Given the description of an element on the screen output the (x, y) to click on. 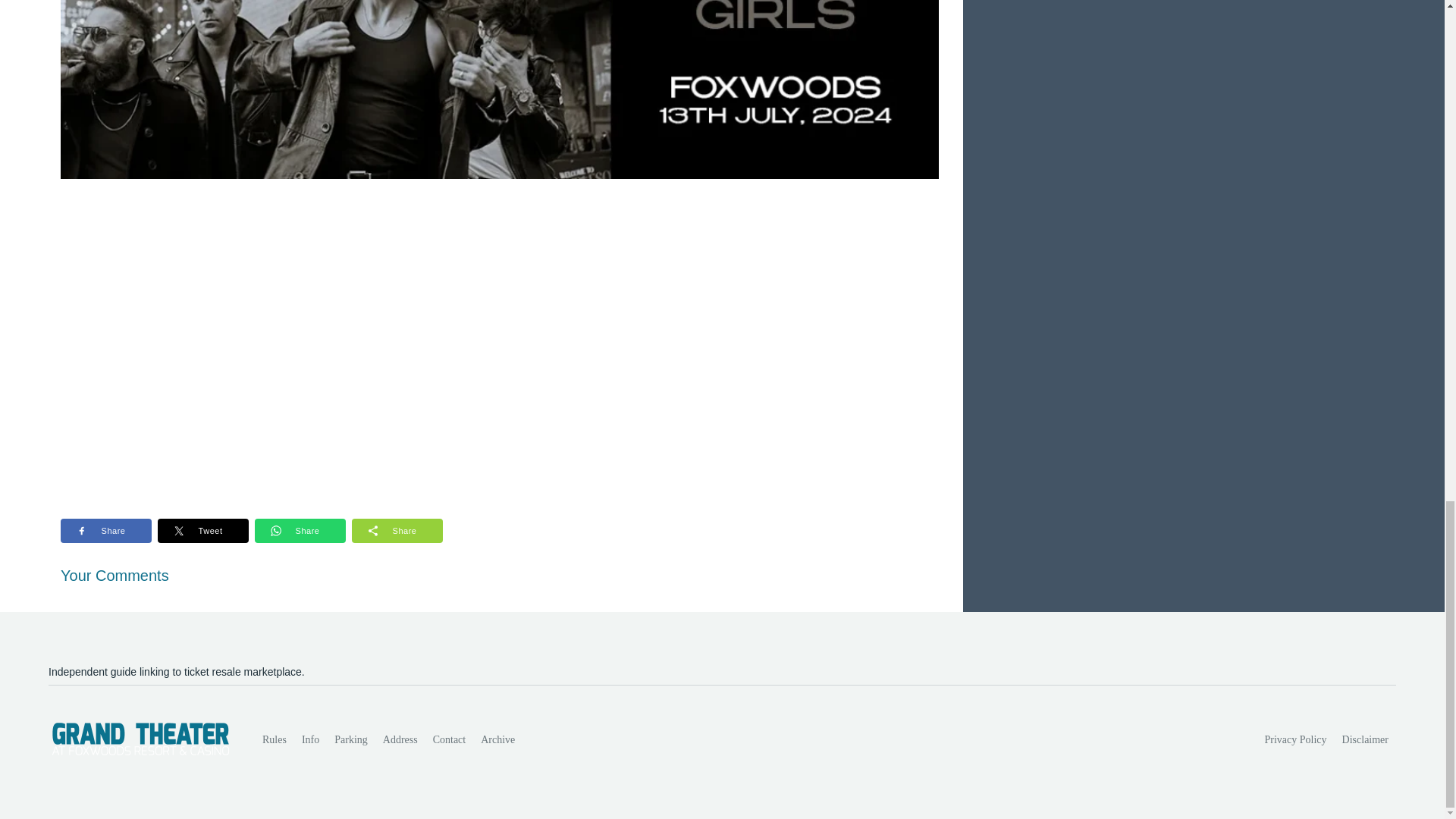
Rules (274, 739)
Privacy Policy (1296, 739)
Address (400, 739)
Archive (497, 739)
Contact (449, 739)
Info (310, 739)
Parking (350, 739)
Disclaimer (1365, 739)
